Given the description of an element on the screen output the (x, y) to click on. 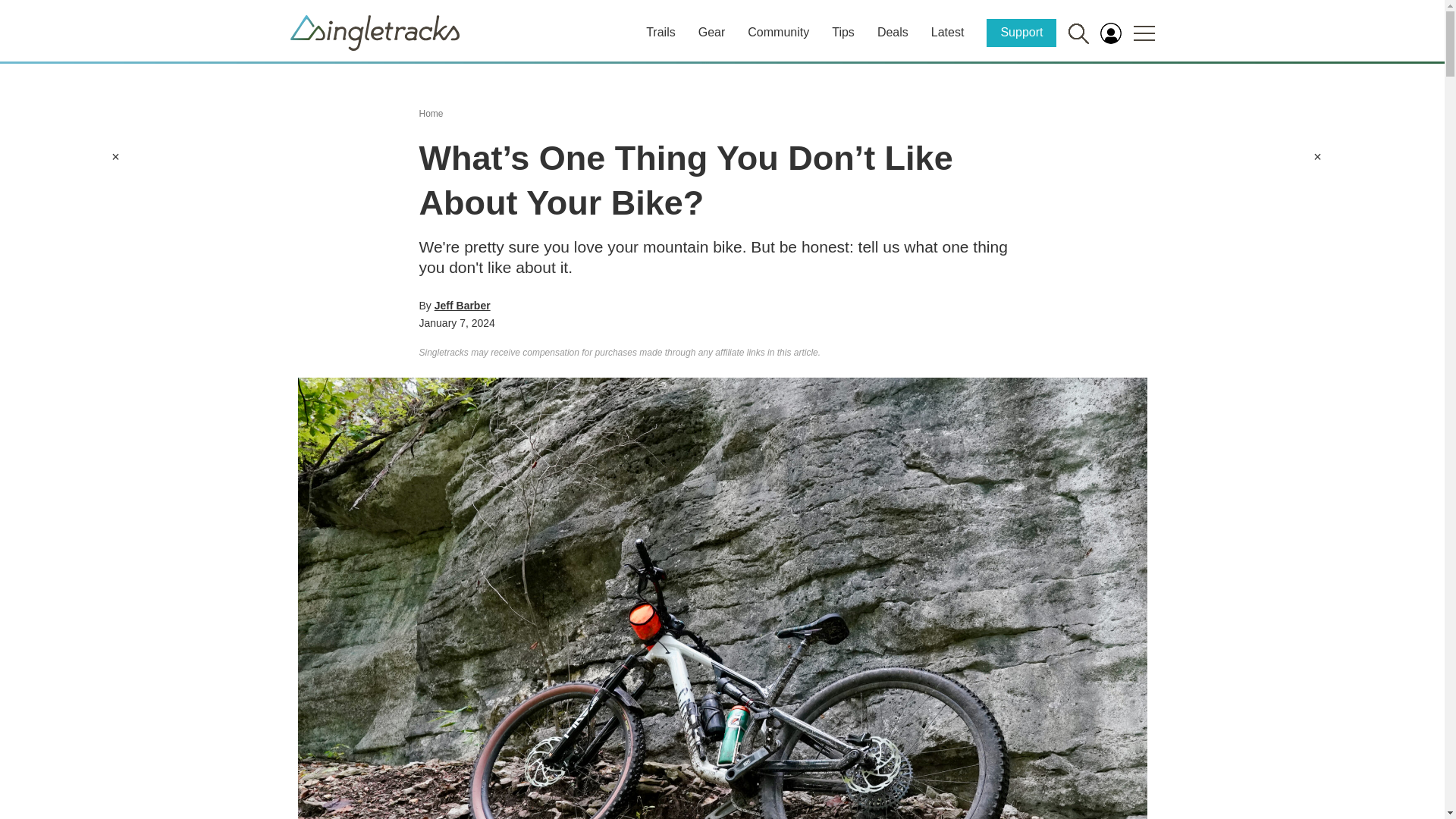
close (115, 156)
Deals (892, 31)
Support (1022, 32)
Tips (842, 31)
Trails (660, 31)
close (1317, 156)
Community (778, 31)
Latest (947, 31)
Gear (711, 31)
View all posts by Jeff Barber (461, 305)
